Given the description of an element on the screen output the (x, y) to click on. 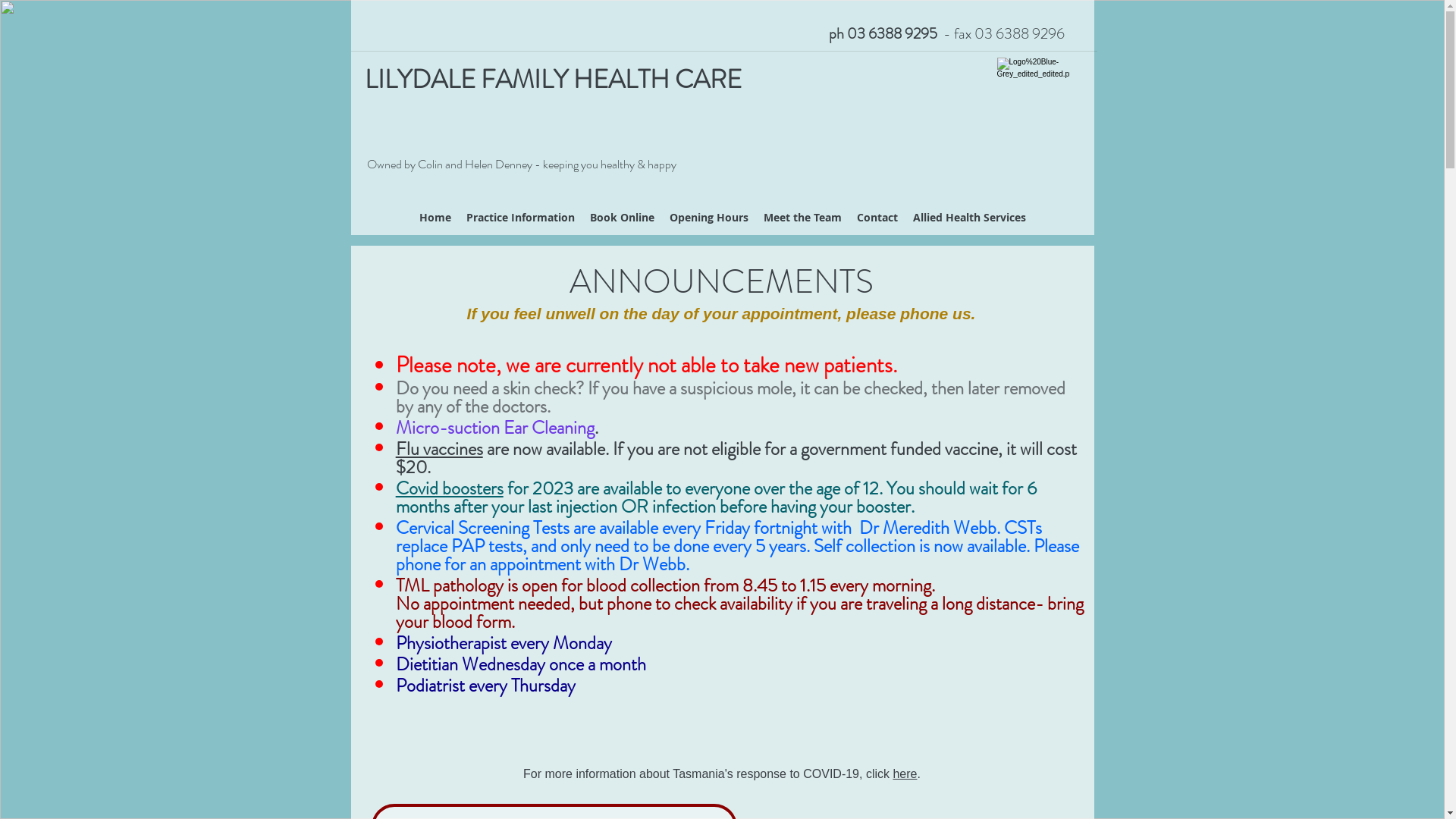
Contact Element type: text (877, 217)
Book Online Element type: text (622, 217)
Meet the Team Element type: text (801, 217)
Practice Information Element type: text (519, 217)
Home Element type: text (434, 217)
Allied Health Services Element type: text (969, 217)
here Element type: text (904, 773)
Opening Hours Element type: text (708, 217)
LILYDALE FAMILY HEALTH CARE Element type: text (552, 78)
